Given the description of an element on the screen output the (x, y) to click on. 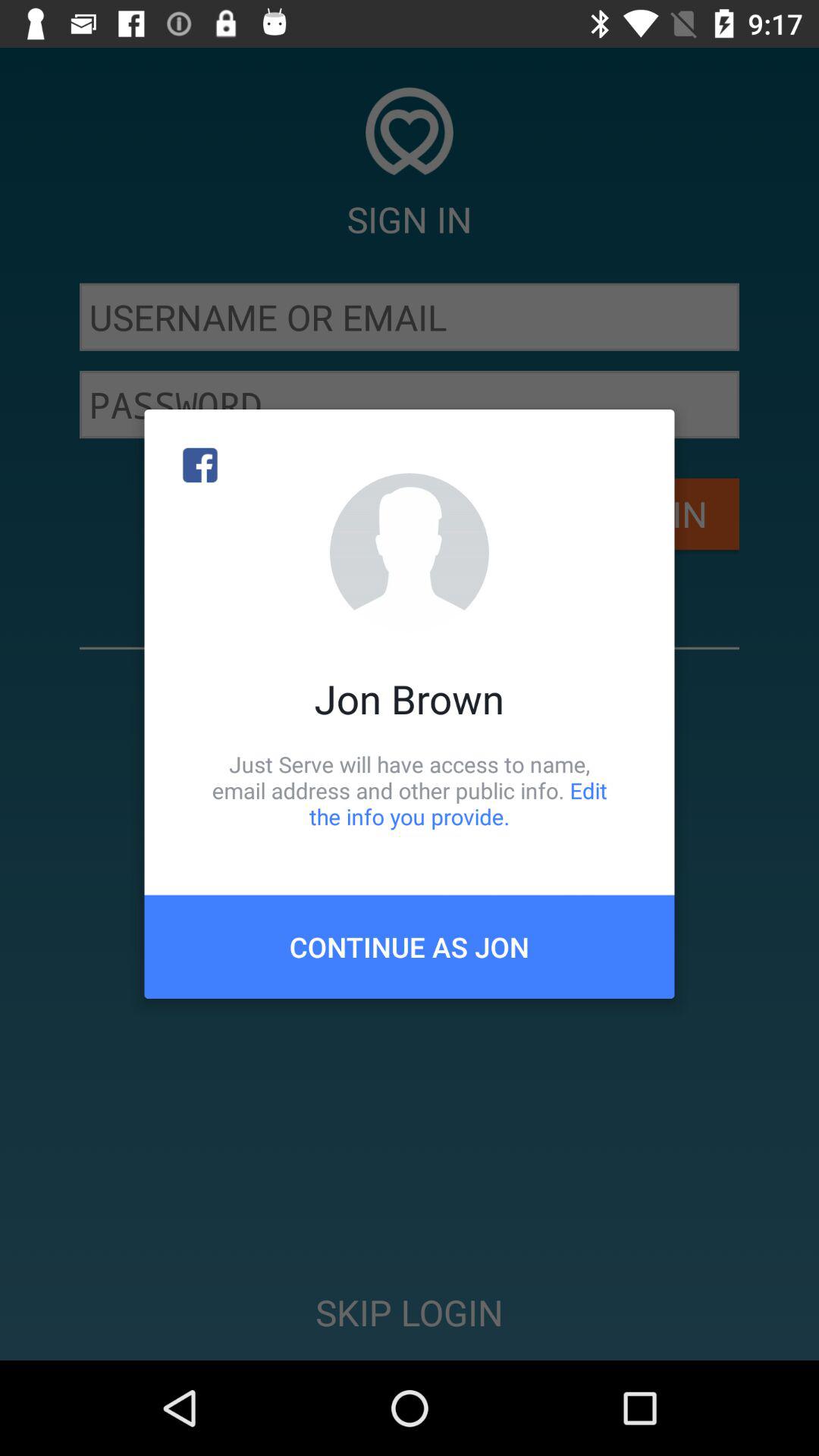
swipe to continue as jon item (409, 946)
